Given the description of an element on the screen output the (x, y) to click on. 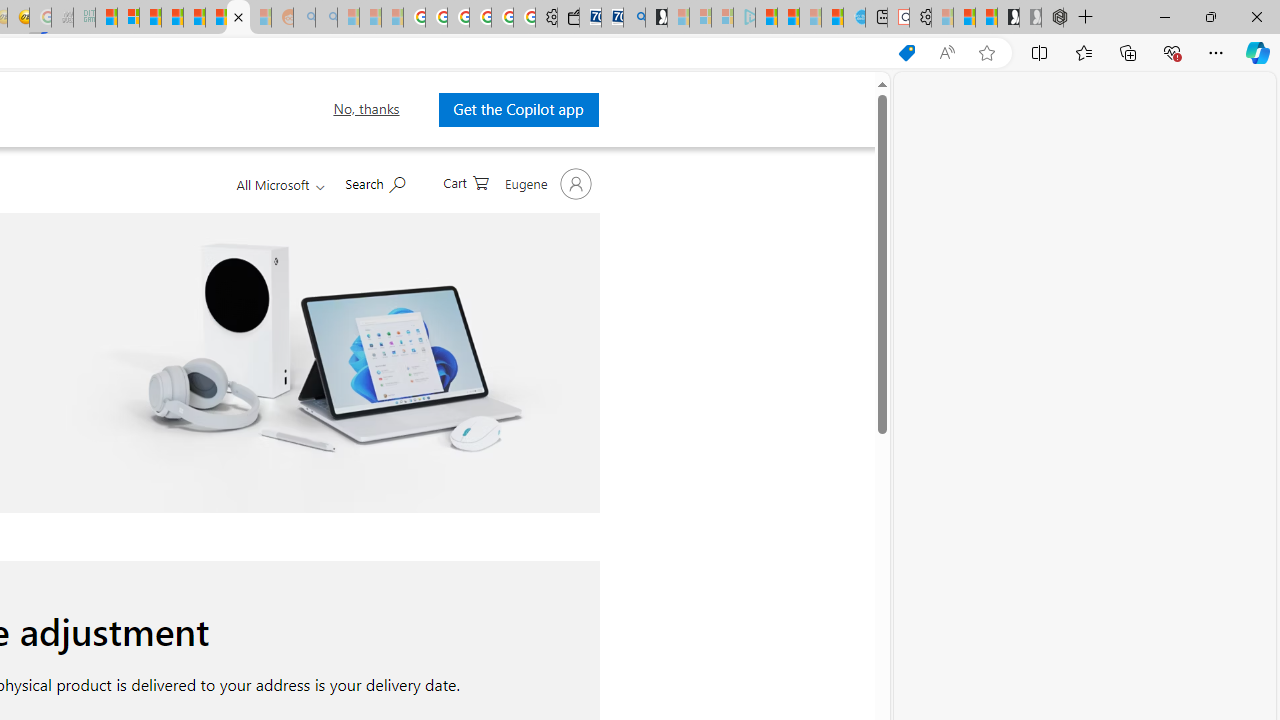
Microsoft Start Gaming (656, 17)
MSNBC - MSN (106, 17)
